Given the description of an element on the screen output the (x, y) to click on. 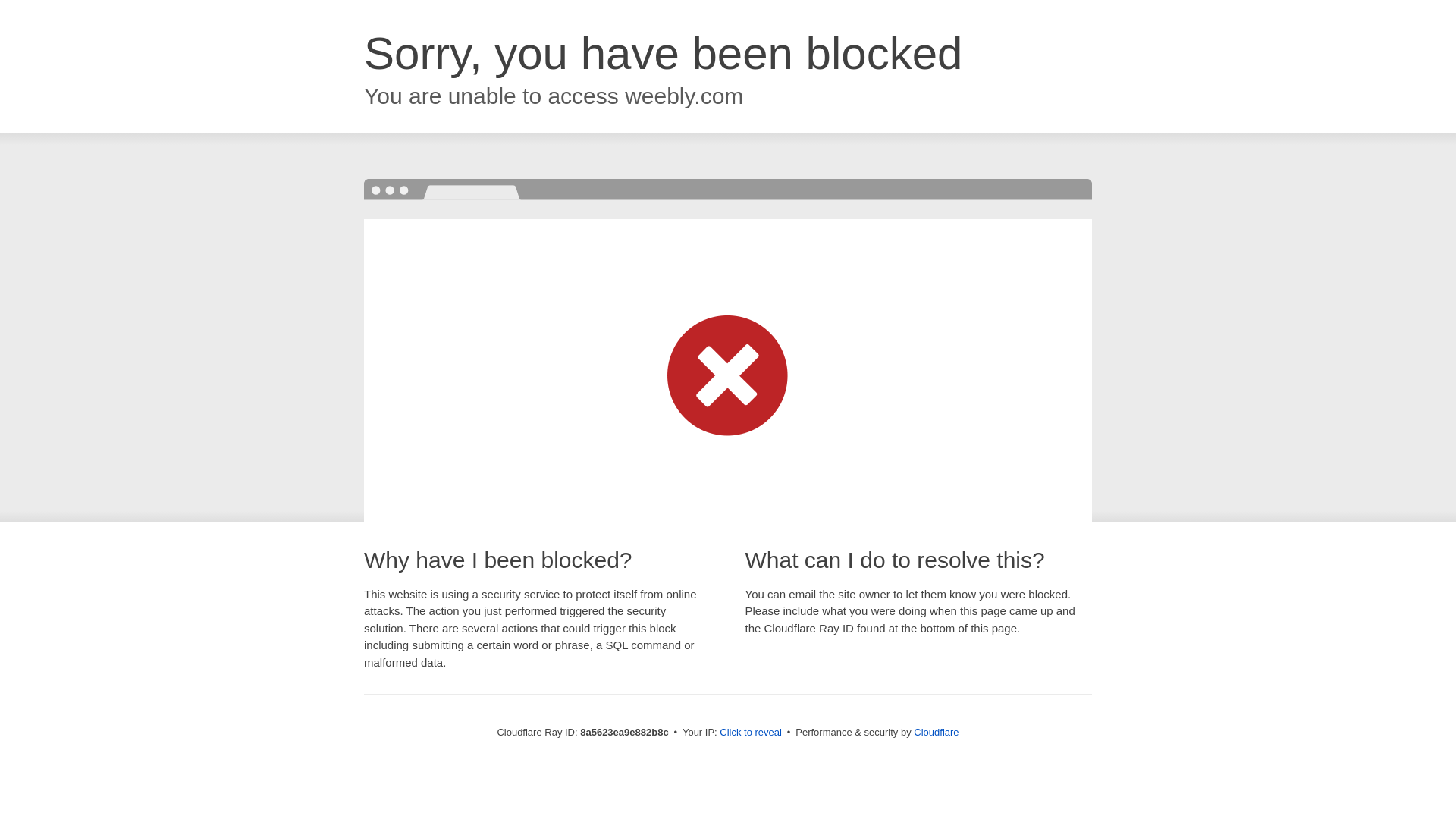
Cloudflare (936, 731)
Click to reveal (750, 732)
